Given the description of an element on the screen output the (x, y) to click on. 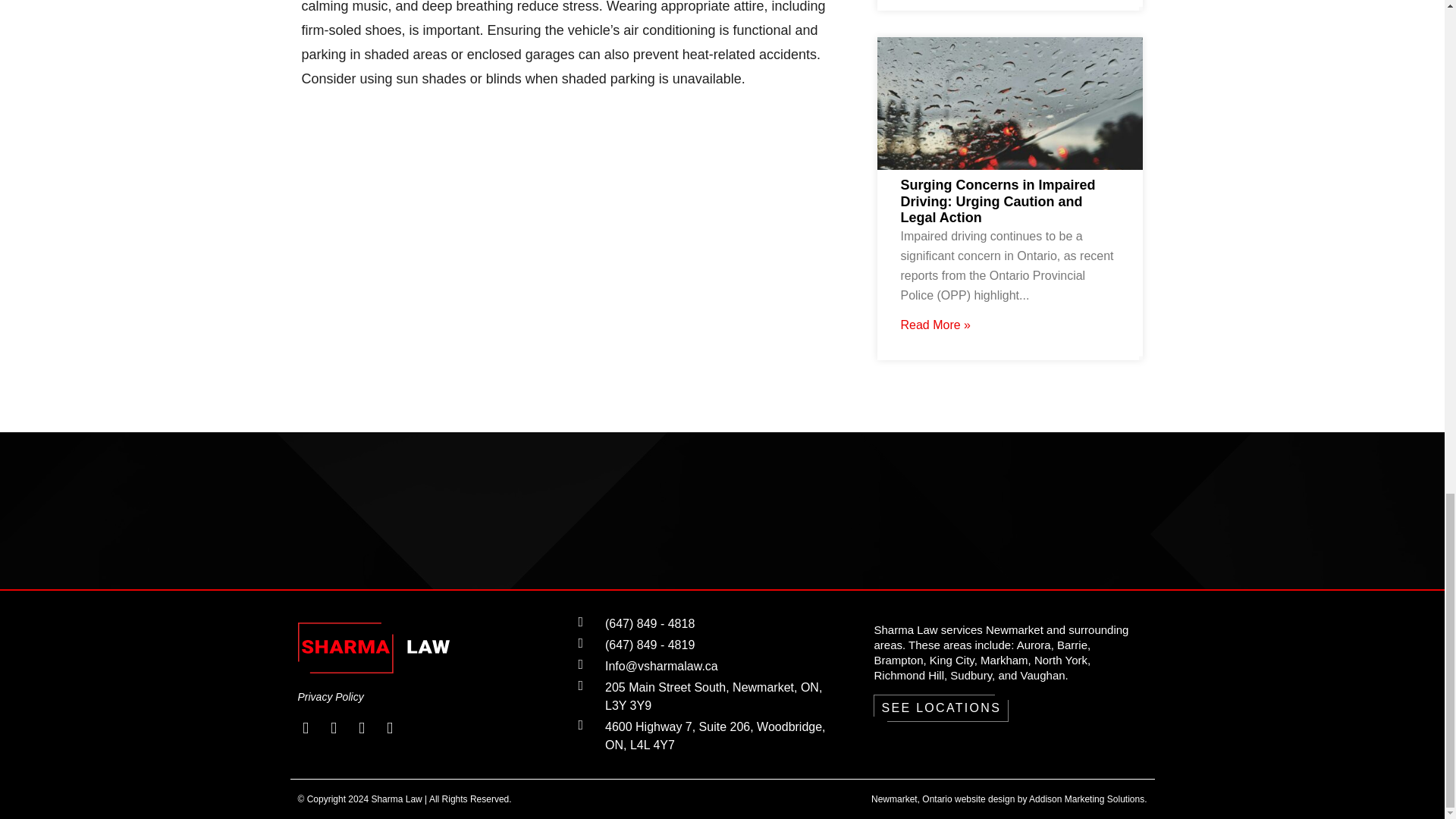
Privacy Policy (433, 696)
